Given the description of an element on the screen output the (x, y) to click on. 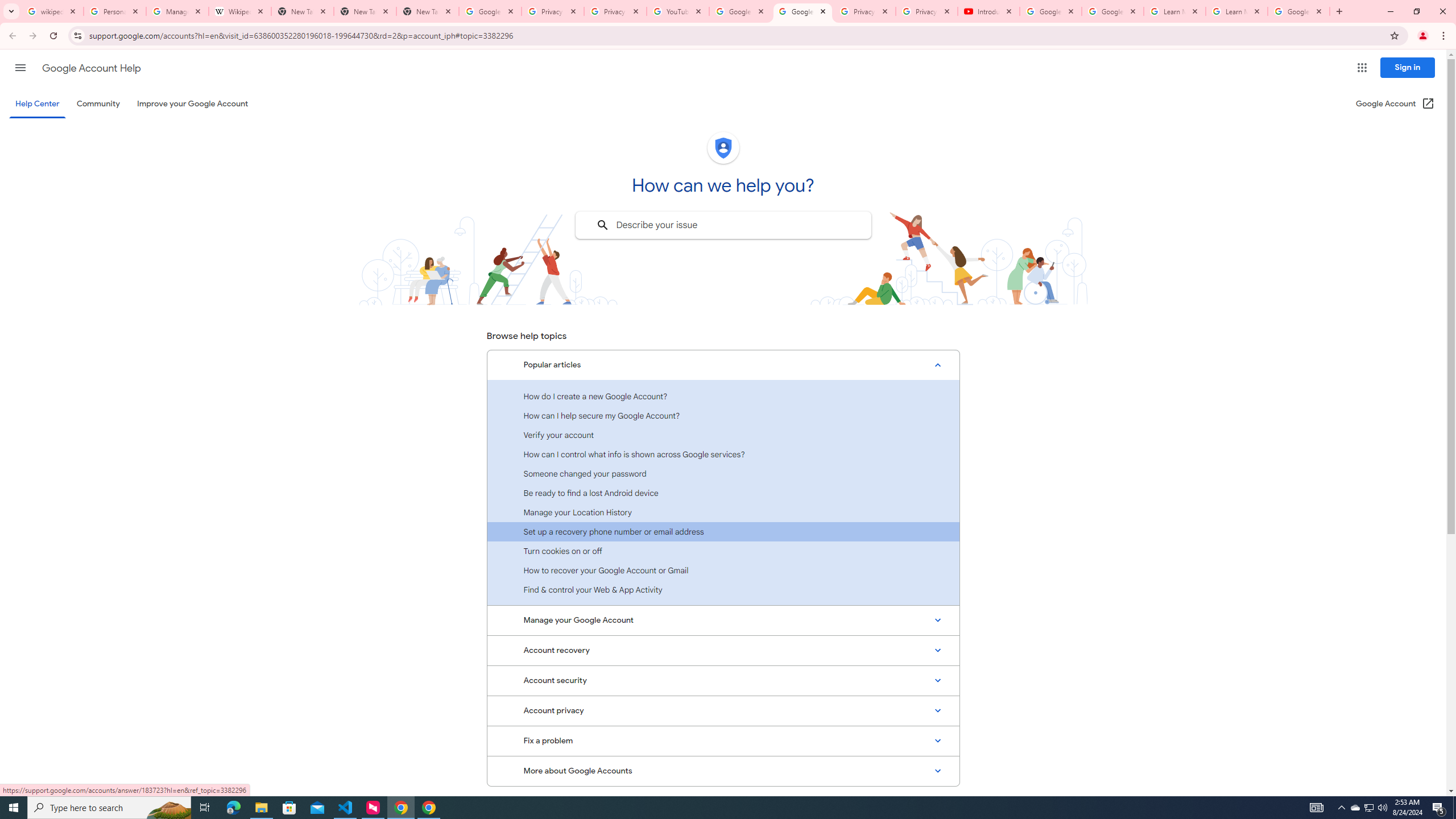
Google Account Help (1111, 11)
How do I create a new Google Account? (722, 396)
Wikipedia:Edit requests - Wikipedia (239, 11)
Find & control your Web & App Activity (722, 589)
Manage your Google Account (722, 620)
Personalization & Google Search results - Google Search Help (114, 11)
How to recover your Google Account or Gmail (722, 570)
Turn cookies on or off (722, 551)
